Given the description of an element on the screen output the (x, y) to click on. 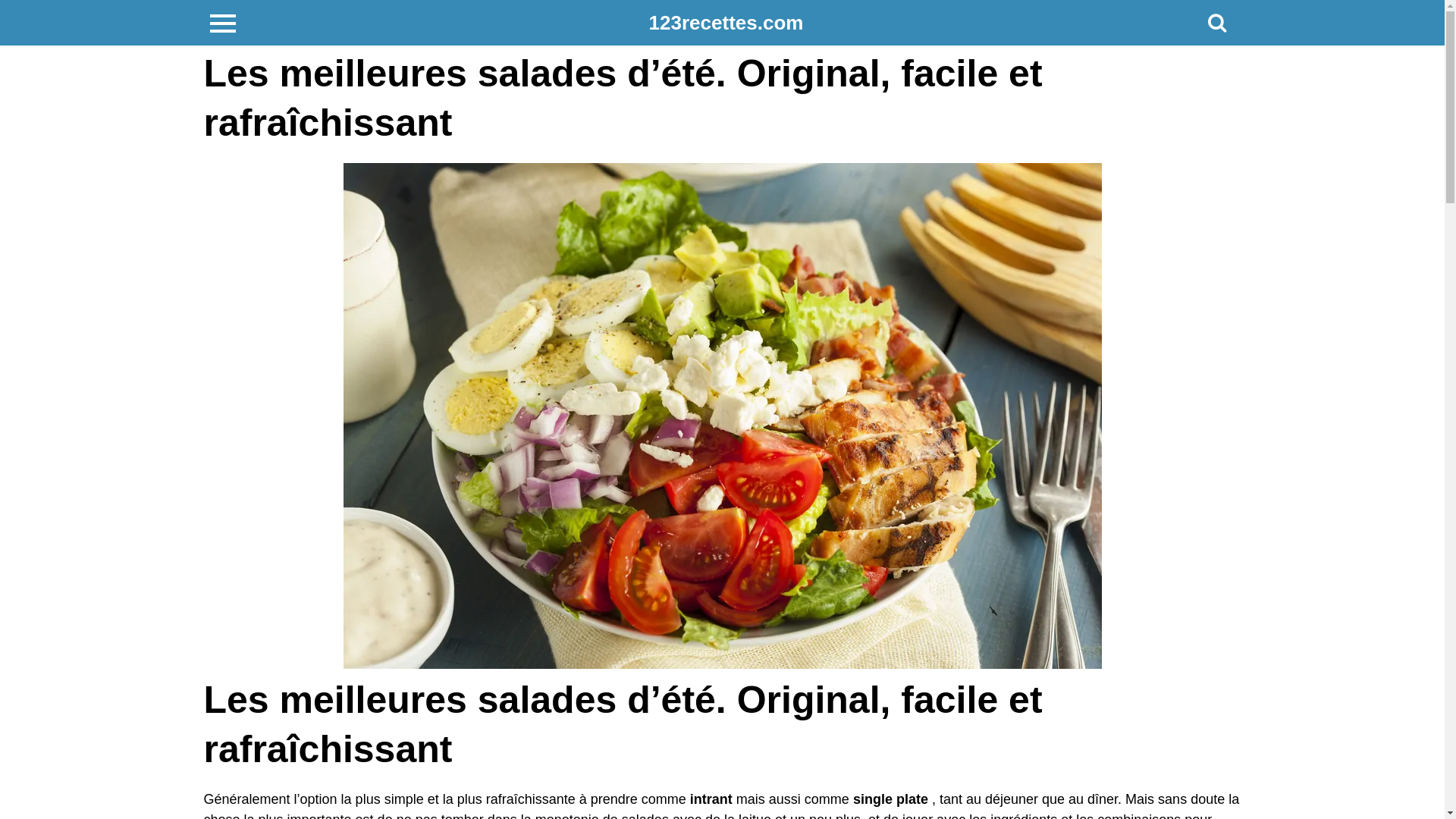
123recettes.com Element type: text (726, 22)
